Given the description of an element on the screen output the (x, y) to click on. 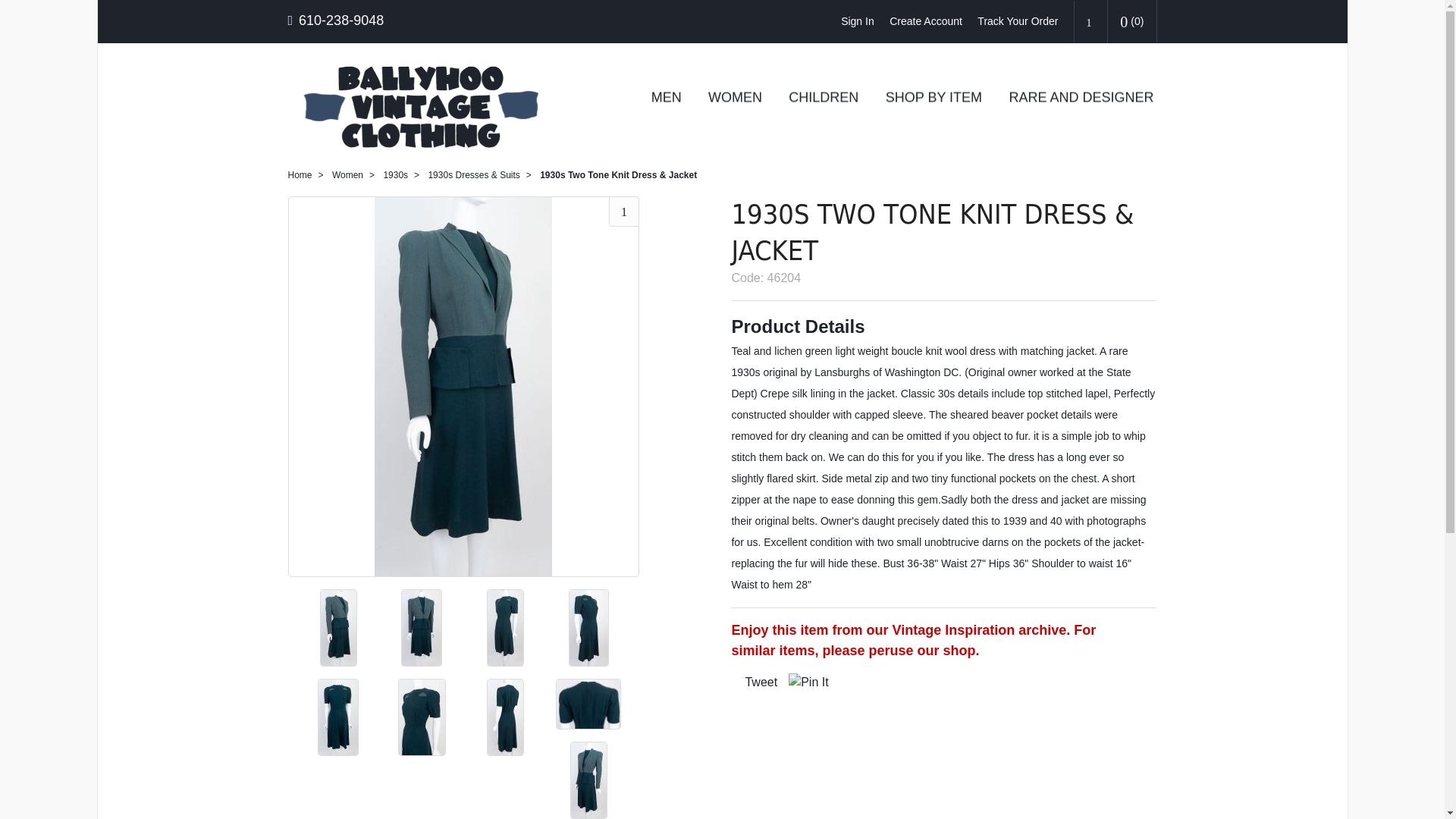
Welcome to Ballyhoo Vintage Clothing (427, 105)
Track Your Order (1017, 21)
WOMEN (734, 97)
Home (300, 174)
Ballyhoovintage.com (427, 105)
1930s (394, 174)
Create Account (925, 21)
Pin It (808, 682)
MEN (666, 97)
Women (346, 174)
